Given the description of an element on the screen output the (x, y) to click on. 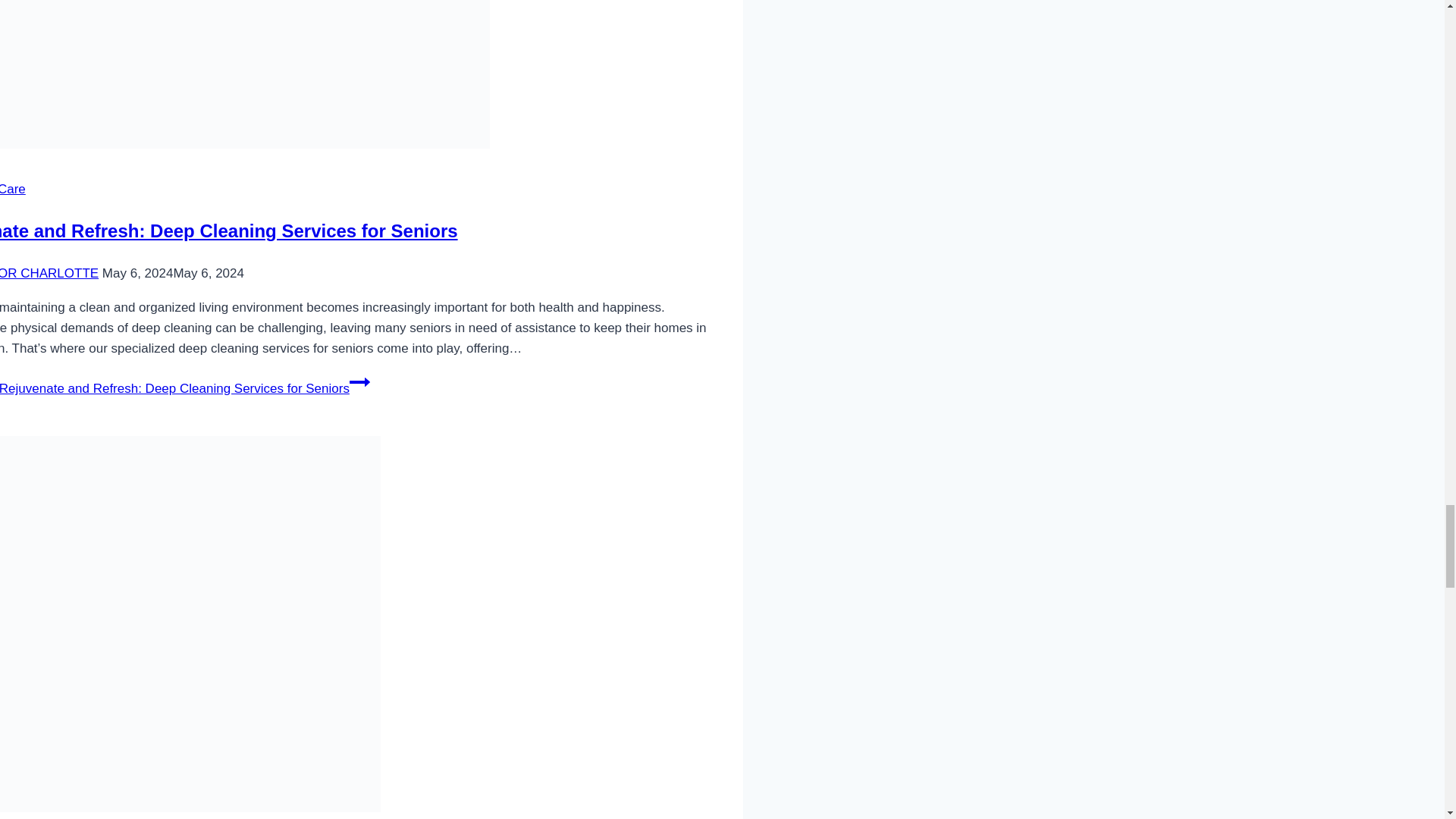
Continue (359, 382)
Rejuvenate and Refresh: Deep Cleaning Services for Seniors (229, 230)
ELEAANOR CHARLOTTE (49, 273)
Safety And Care (13, 188)
